Given the description of an element on the screen output the (x, y) to click on. 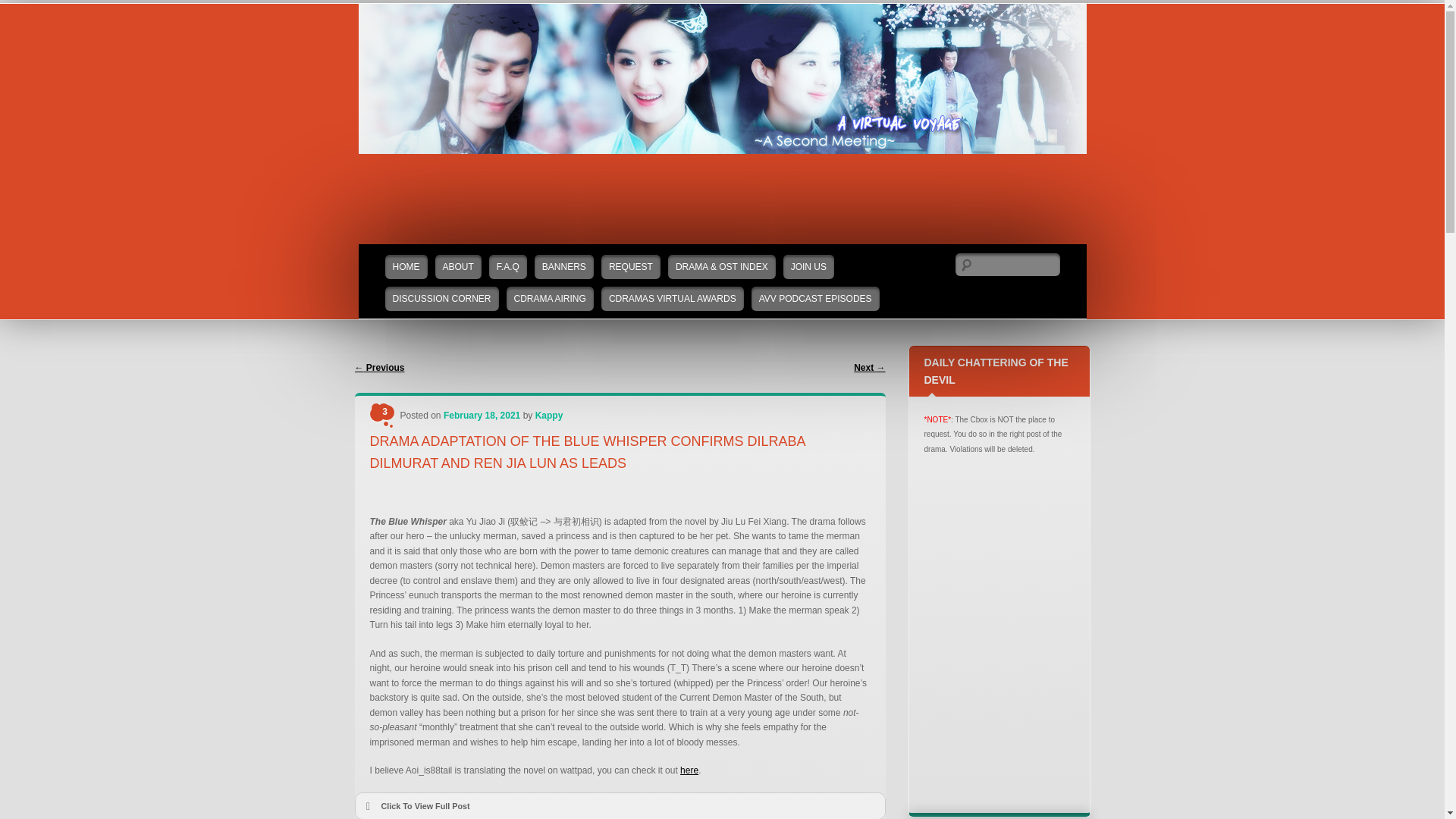
ABOUT (458, 266)
Skip to secondary content (410, 251)
View all posts by Kappy (549, 415)
BANNERS (564, 266)
JOIN US (808, 266)
CDRAMA AIRING (550, 298)
Skip to primary content (404, 251)
8:19 pm (481, 415)
DISCUSSION CORNER (442, 298)
REQUEST (631, 266)
HOME (406, 266)
F.A.Q (508, 266)
